Given the description of an element on the screen output the (x, y) to click on. 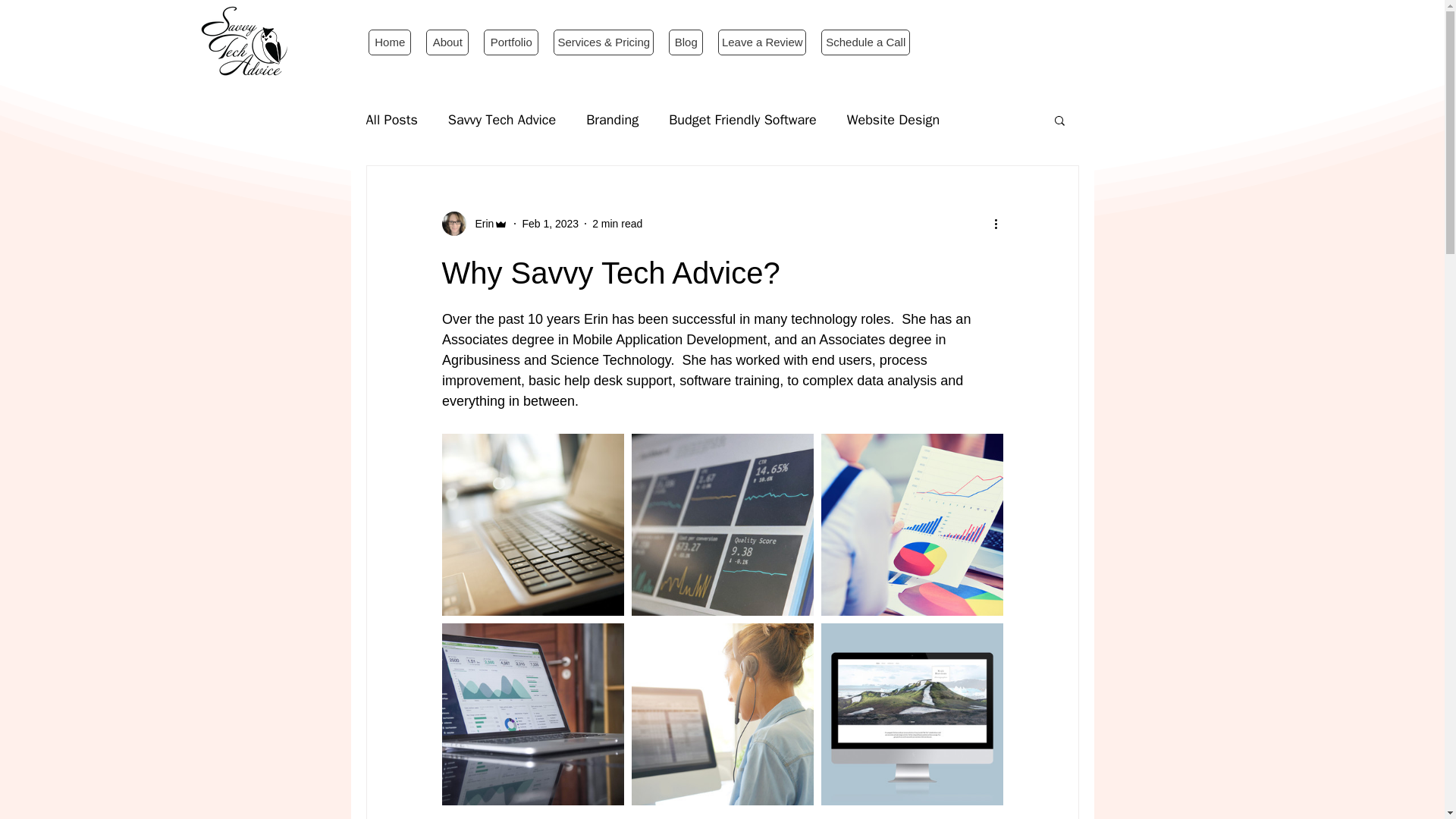
Erin (479, 222)
All Posts (390, 119)
Feb 1, 2023 (549, 223)
Savvy Tech Advice (502, 119)
Branding (612, 119)
Portfolio (510, 42)
Budget Friendly Software (741, 119)
Schedule a Call (865, 42)
Erin (474, 223)
Home (389, 42)
About (447, 42)
2 min read (617, 223)
Blog (685, 42)
Website Design (893, 119)
Leave a Review (761, 42)
